Given the description of an element on the screen output the (x, y) to click on. 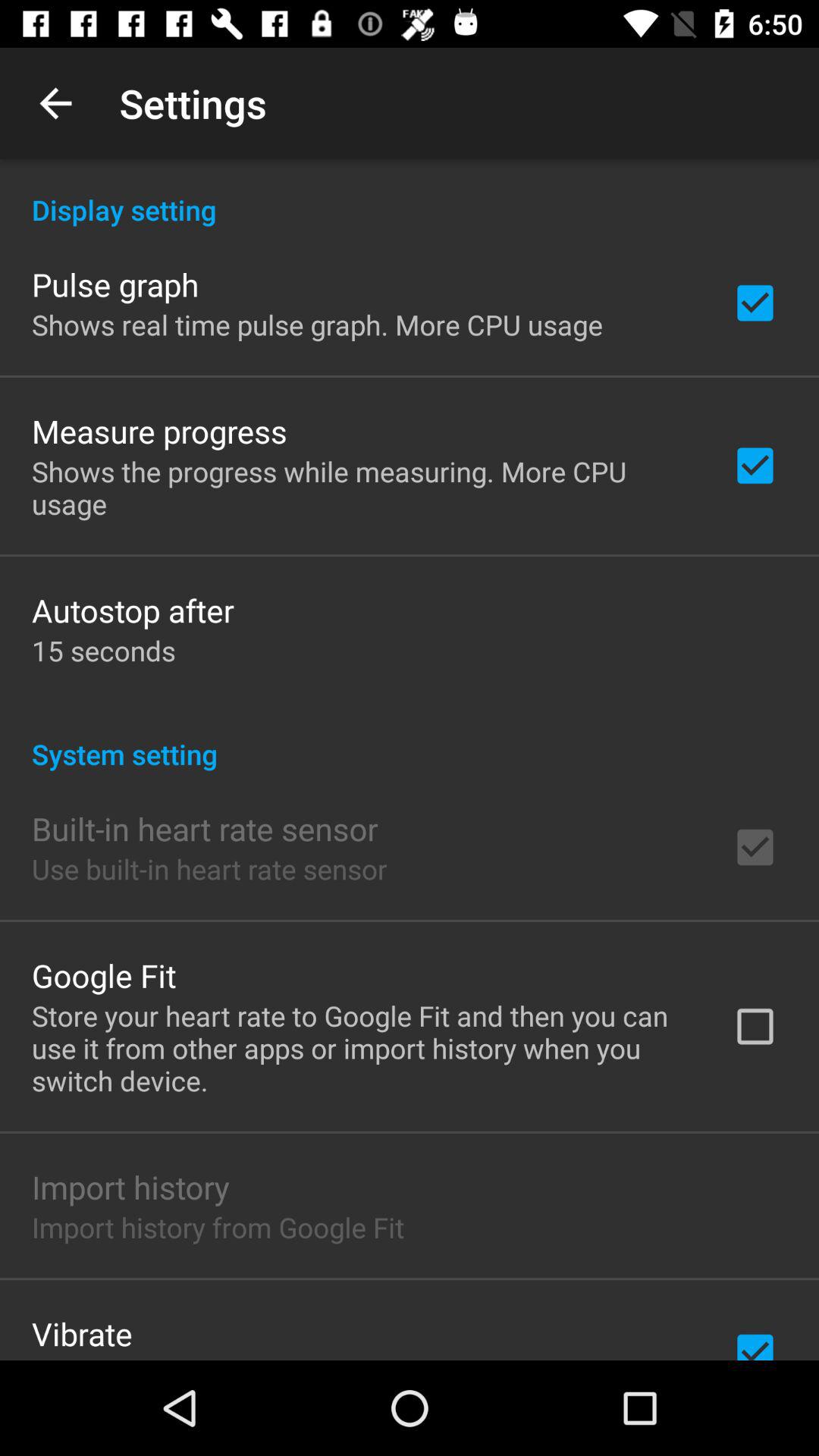
select icon to the left of the settings app (55, 103)
